Given the description of an element on the screen output the (x, y) to click on. 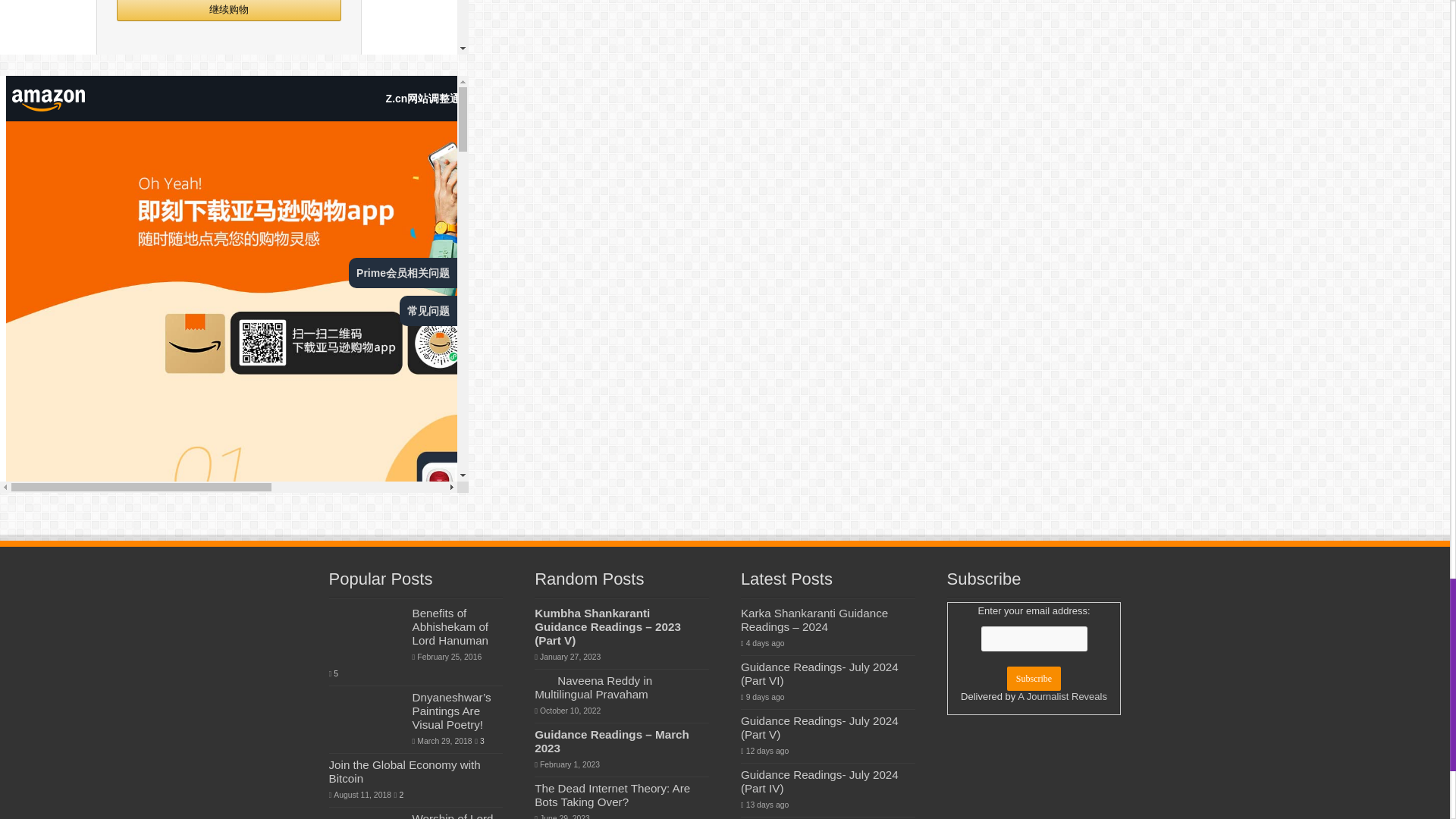
Subscribe (1034, 678)
